Given the description of an element on the screen output the (x, y) to click on. 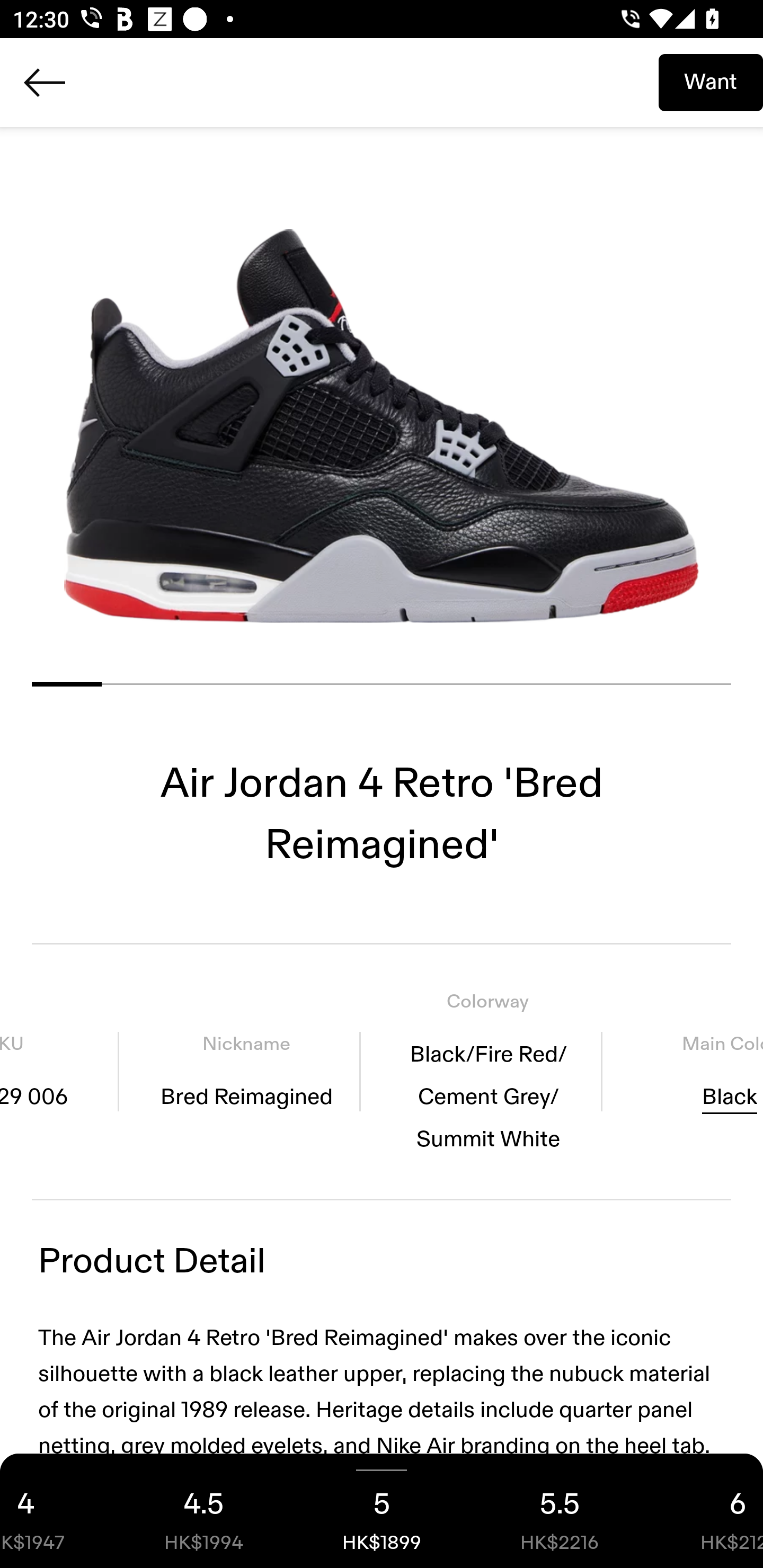
Want (710, 82)
SKU FV5029 006 (59, 1070)
Nickname Bred Reimagined (245, 1070)
Colorway Black/Fire Red/Cement Grey/Summit White (487, 1070)
Main Color Black (688, 1070)
4 HK$1947 (57, 1510)
4.5 HK$1994 (203, 1510)
5 HK$1899 (381, 1510)
5.5 HK$2216 (559, 1510)
6 HK$2121 (705, 1510)
